Given the description of an element on the screen output the (x, y) to click on. 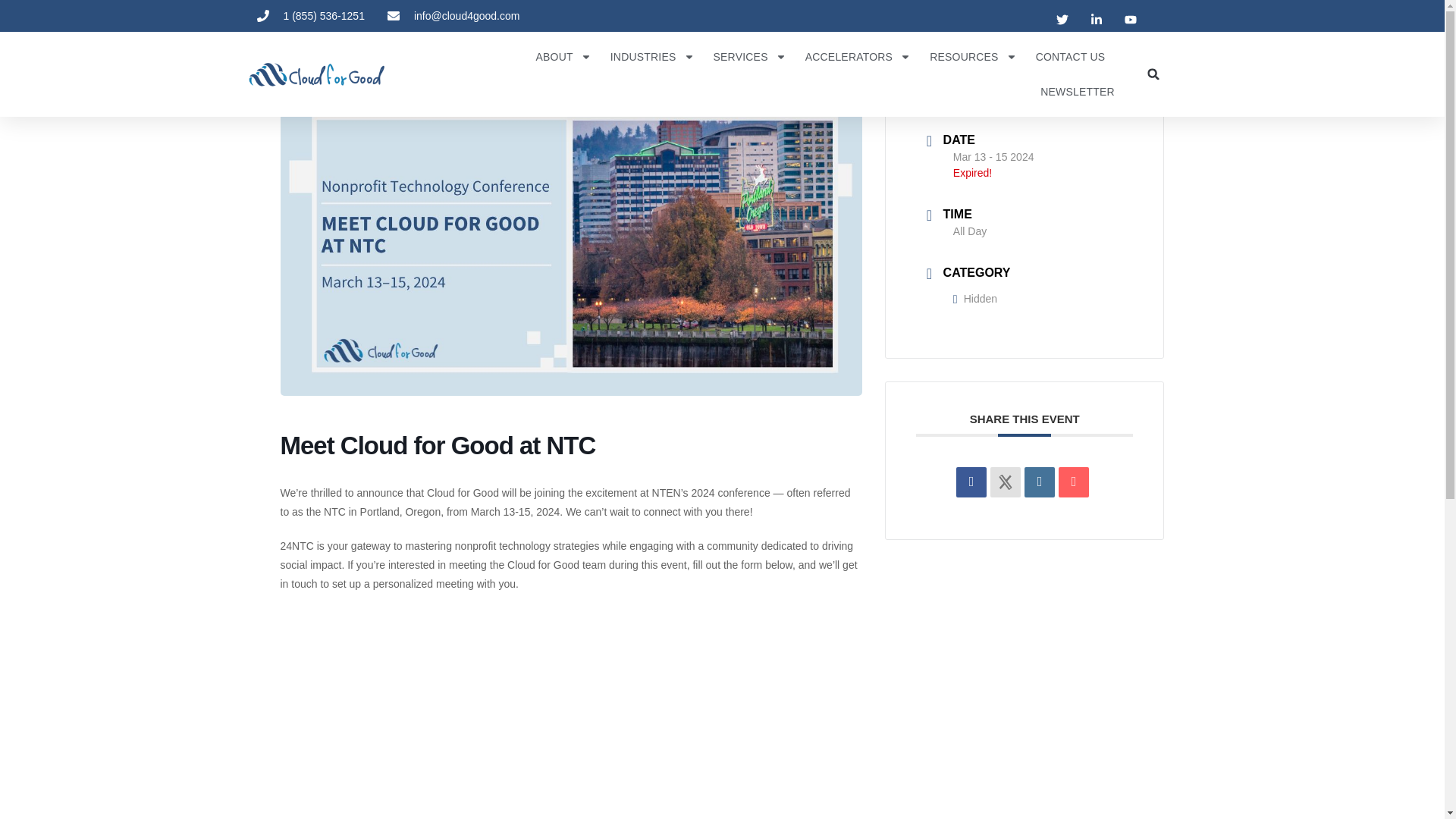
Email (1073, 481)
ABOUT (563, 56)
INDUSTRIES (652, 56)
X Social Network (1005, 481)
Share on Facebook (971, 481)
Linkedin (1039, 481)
SERVICES (749, 56)
ACCELERATORS (858, 56)
